Given the description of an element on the screen output the (x, y) to click on. 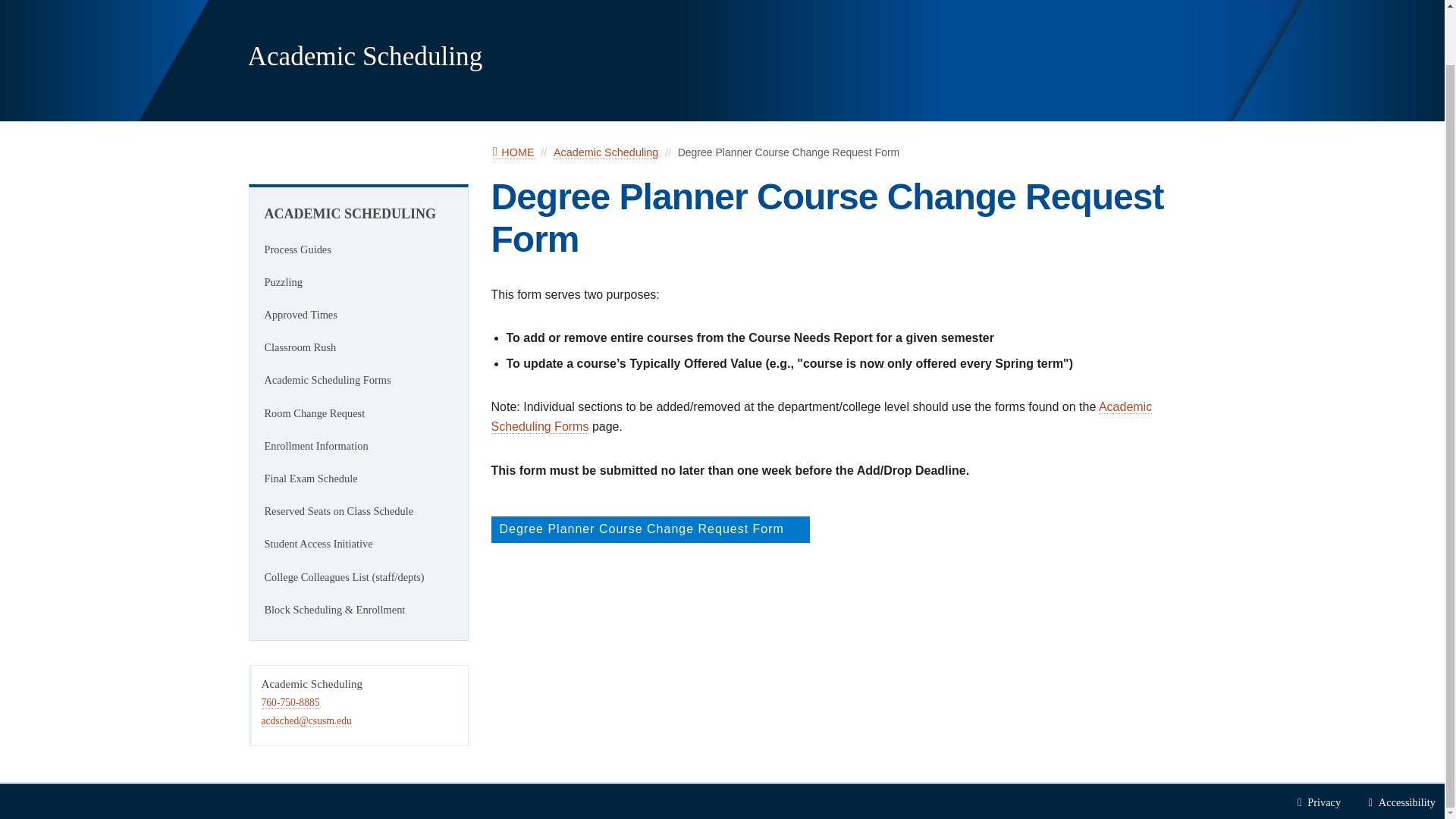
External website (651, 529)
External website (795, 528)
